Given the description of an element on the screen output the (x, y) to click on. 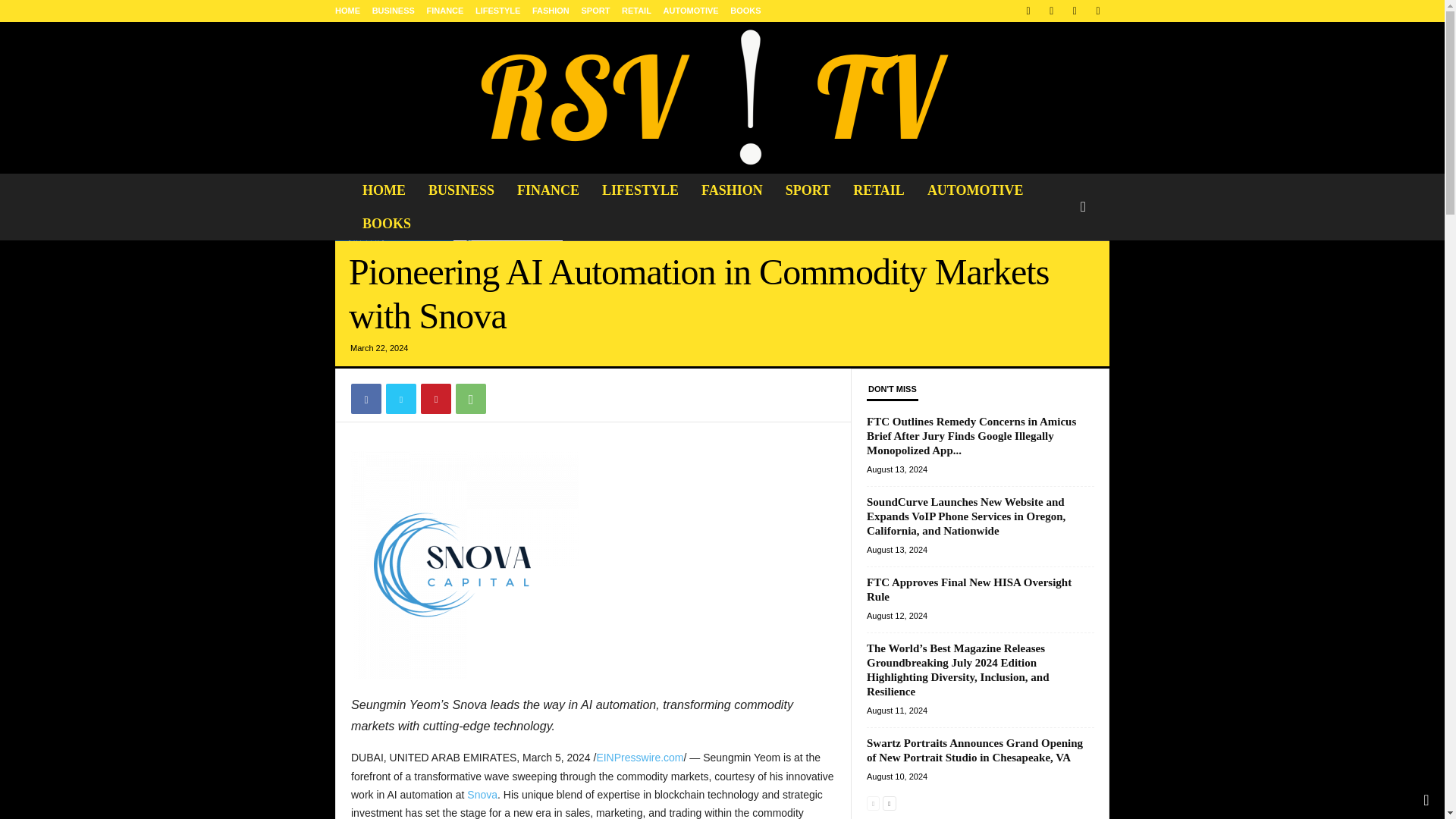
FINANCE (444, 10)
AUTOMOTIVE (691, 10)
BUSINESS (460, 190)
SPORT (595, 10)
LIFESTYLE (497, 10)
RETAIL (878, 190)
FASHION (732, 190)
BOOKS (386, 223)
Reality Syndicate Viewers News (720, 97)
AUTOMOTIVE (975, 190)
